Given the description of an element on the screen output the (x, y) to click on. 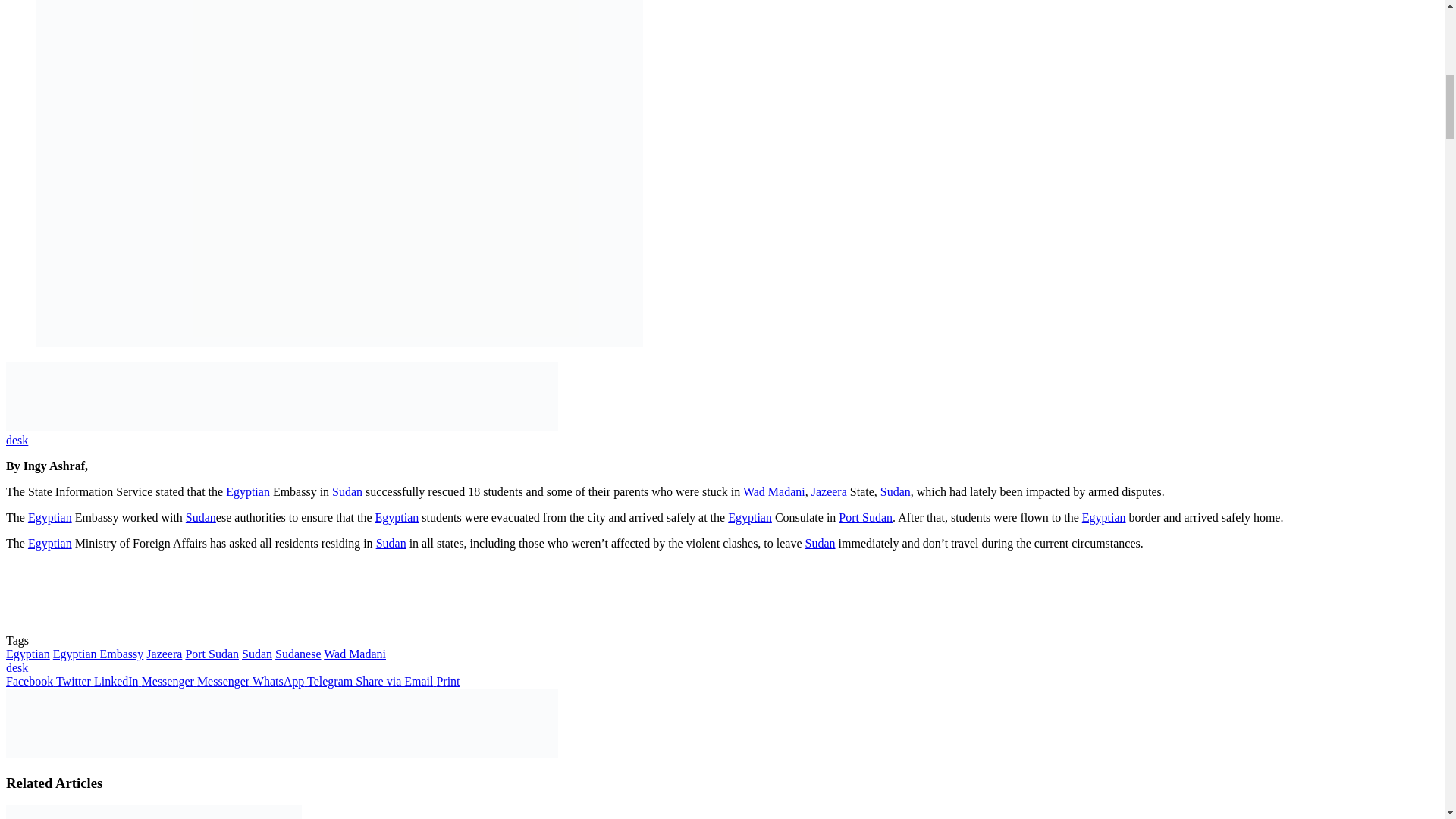
LinkedIn (117, 680)
Messenger (168, 680)
WhatsApp (279, 680)
desk (16, 667)
Sudan (346, 491)
Twitter (75, 680)
Share via Email (395, 680)
Telegram (331, 680)
desk (16, 440)
Port (849, 517)
